Given the description of an element on the screen output the (x, y) to click on. 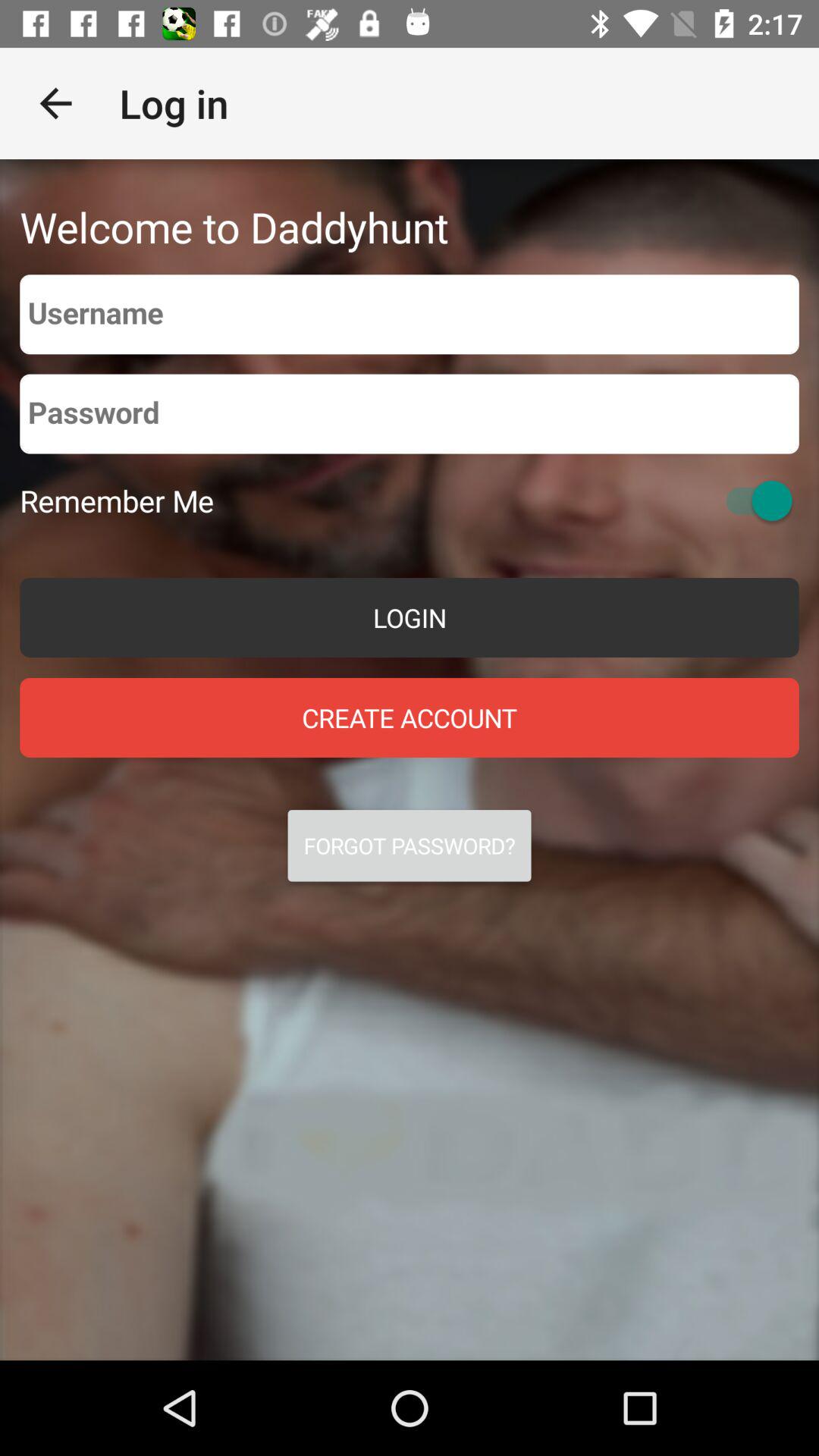
toggle remember me function (751, 500)
